Given the description of an element on the screen output the (x, y) to click on. 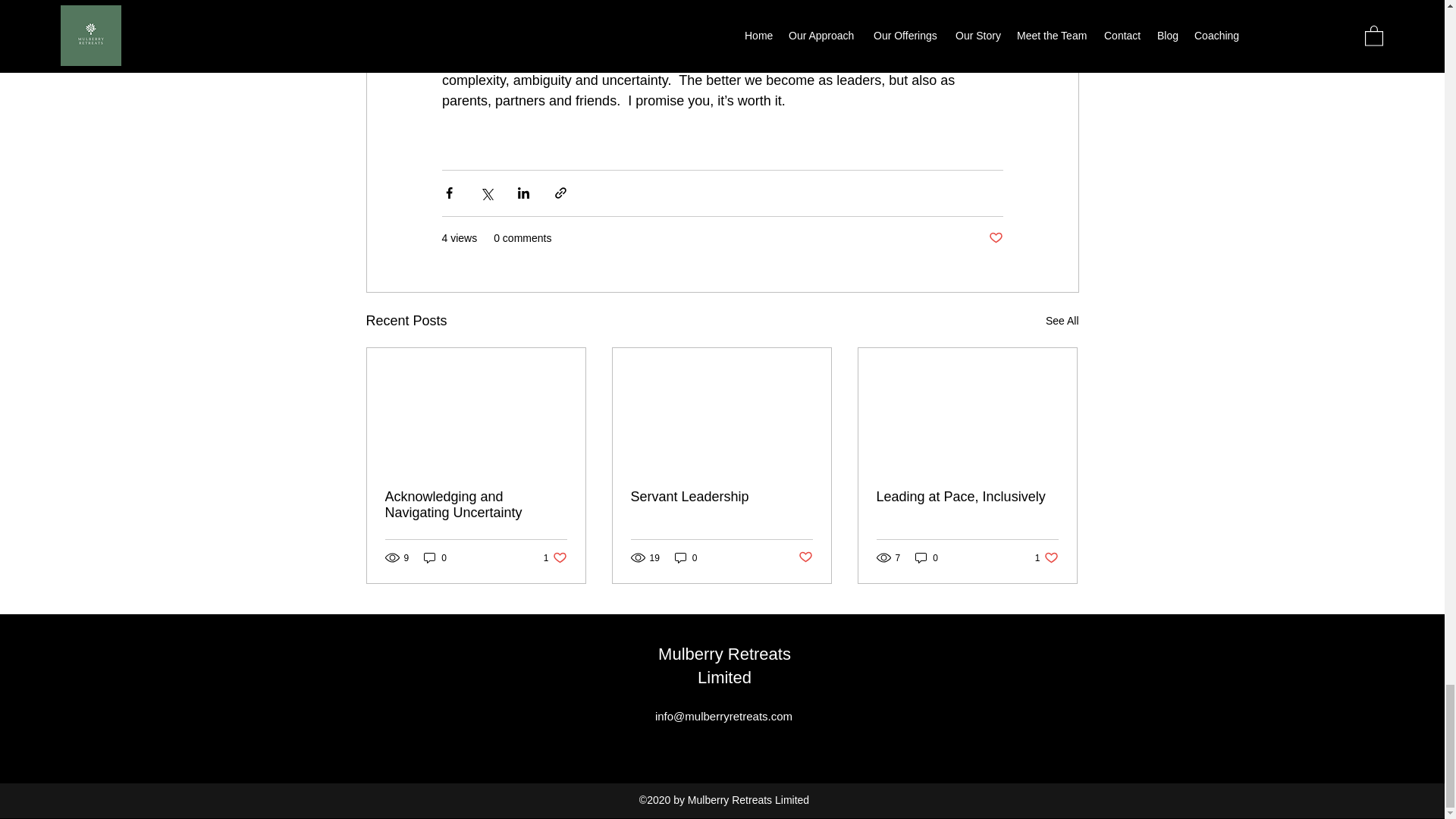
0 (926, 557)
Leading at Pace, Inclusively (967, 496)
0 (1046, 557)
0 (435, 557)
Servant Leadership (555, 557)
Post not marked as liked (685, 557)
Post not marked as liked (721, 496)
See All (804, 557)
Mulberry Retreats Limited (995, 238)
Acknowledging and Navigating Uncertainty (1061, 321)
